Given the description of an element on the screen output the (x, y) to click on. 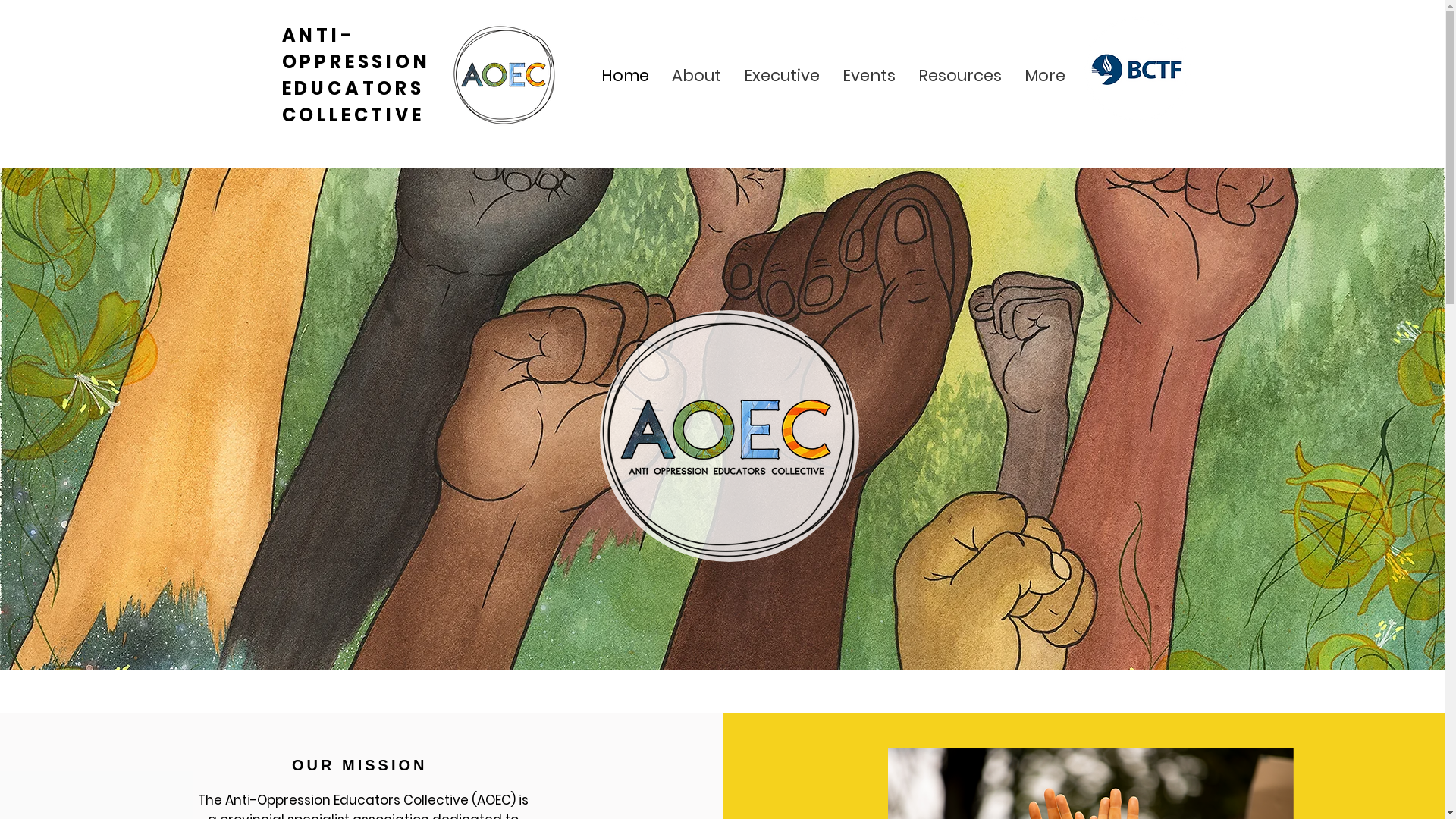
ANTI- Element type: text (318, 34)
Resources Element type: text (959, 74)
Executive Element type: text (781, 74)
AOEC-new logo.png Element type: hover (726, 433)
About Element type: text (695, 74)
OPPRESSION EDUCATORS COLLECTIVE Element type: text (356, 88)
Events Element type: text (868, 74)
Home Element type: text (624, 74)
